Given the description of an element on the screen output the (x, y) to click on. 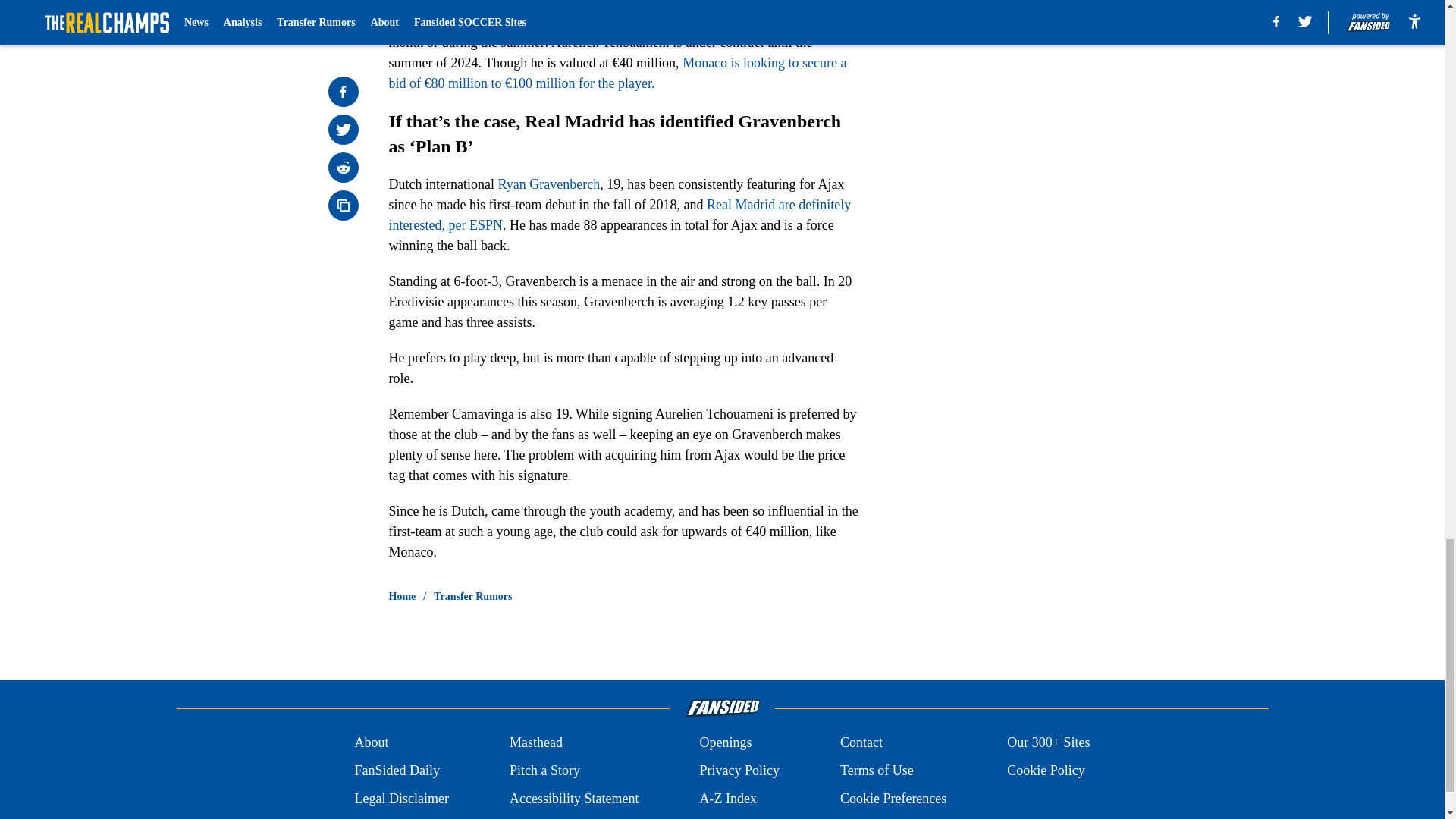
Cookie Preferences (893, 798)
Masthead (535, 742)
Real Madrid are definitely interested, per ESPN (619, 214)
About (370, 742)
Transfer Rumors (472, 596)
Cookie Policy (1045, 770)
Accessibility Statement (574, 798)
FanSided Daily (396, 770)
Privacy Policy (738, 770)
Pitch a Story (544, 770)
